Given the description of an element on the screen output the (x, y) to click on. 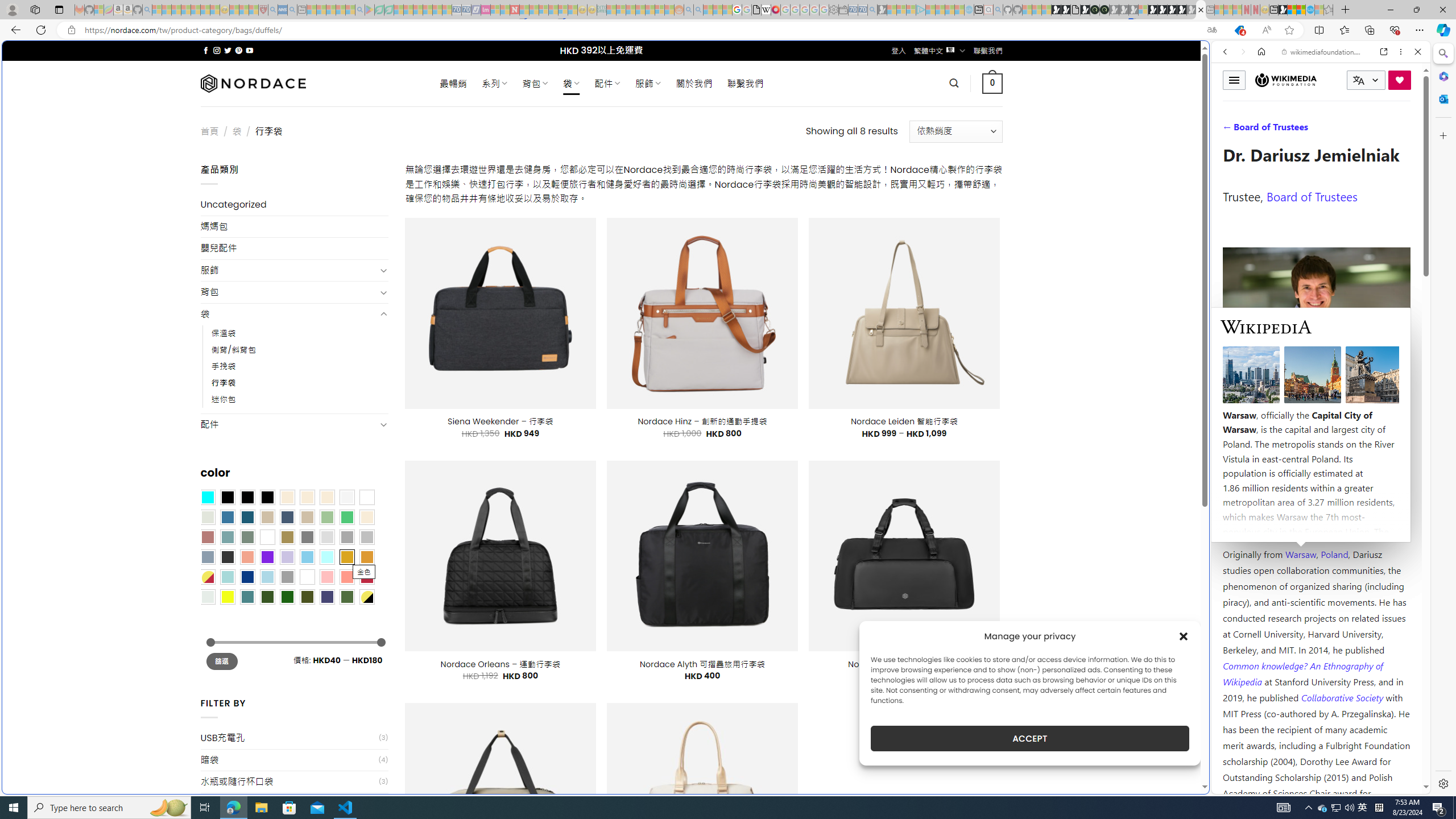
Jobs - lastminute.com Investor Portal - Sleeping (485, 9)
Wiktionary (1315, 380)
World - MSN (727, 389)
